Given the description of an element on the screen output the (x, y) to click on. 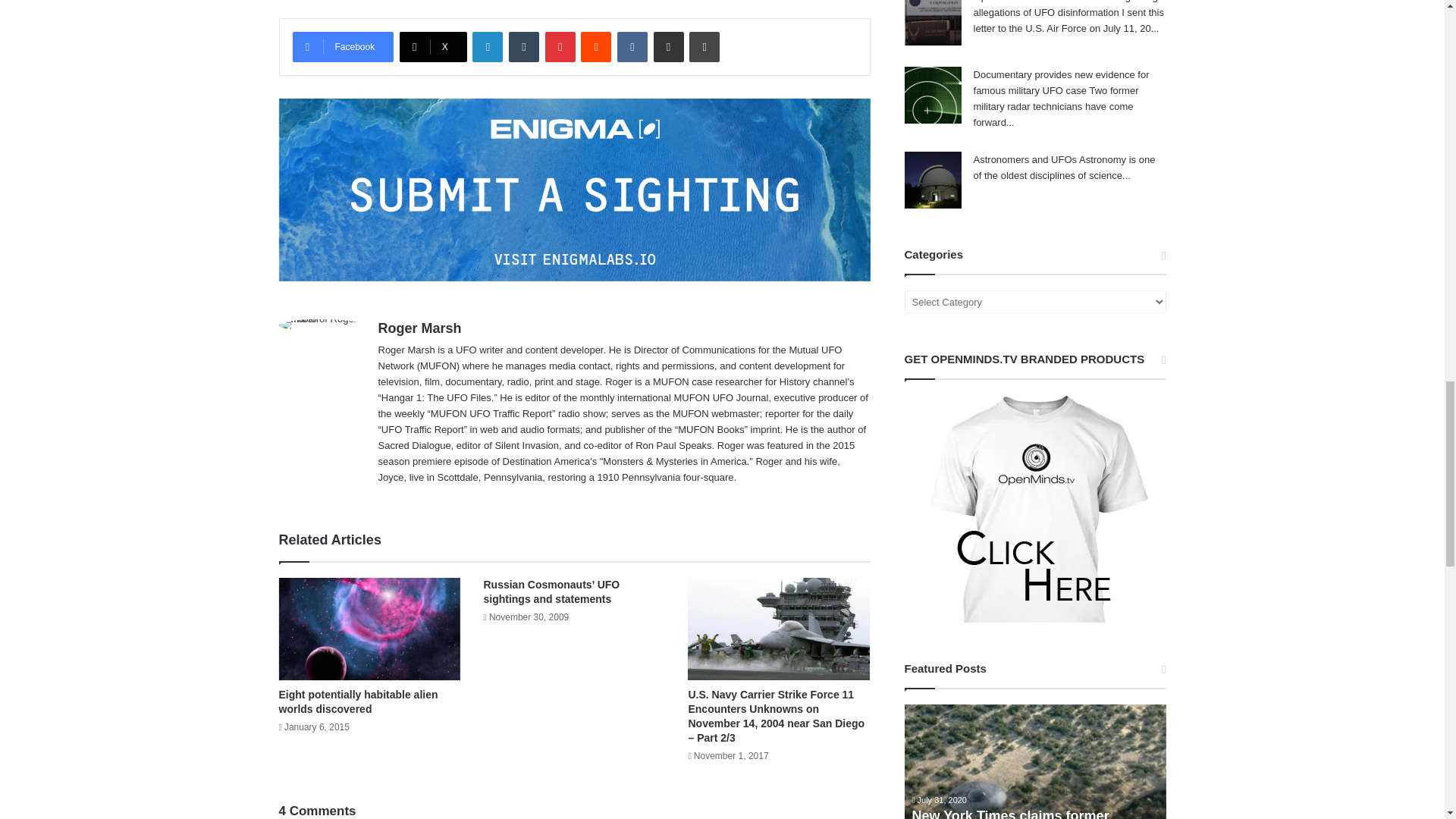
Share via Email (668, 46)
Print (703, 46)
Reddit (595, 46)
LinkedIn (486, 46)
Facebook (343, 46)
Pinterest (559, 46)
Tumblr (523, 46)
VKontakte (632, 46)
X (432, 46)
